Given the description of an element on the screen output the (x, y) to click on. 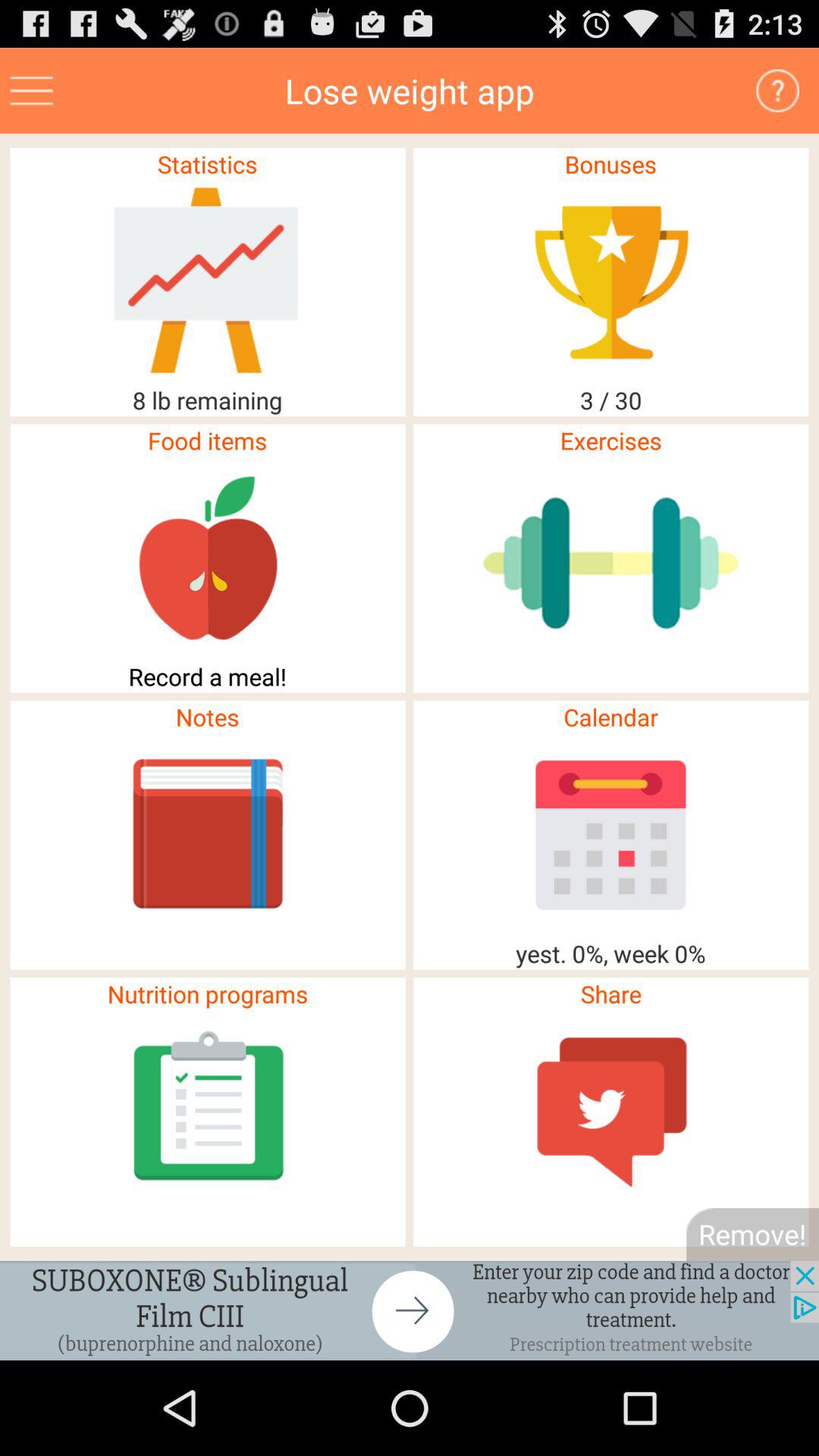
select button (777, 90)
